Given the description of an element on the screen output the (x, y) to click on. 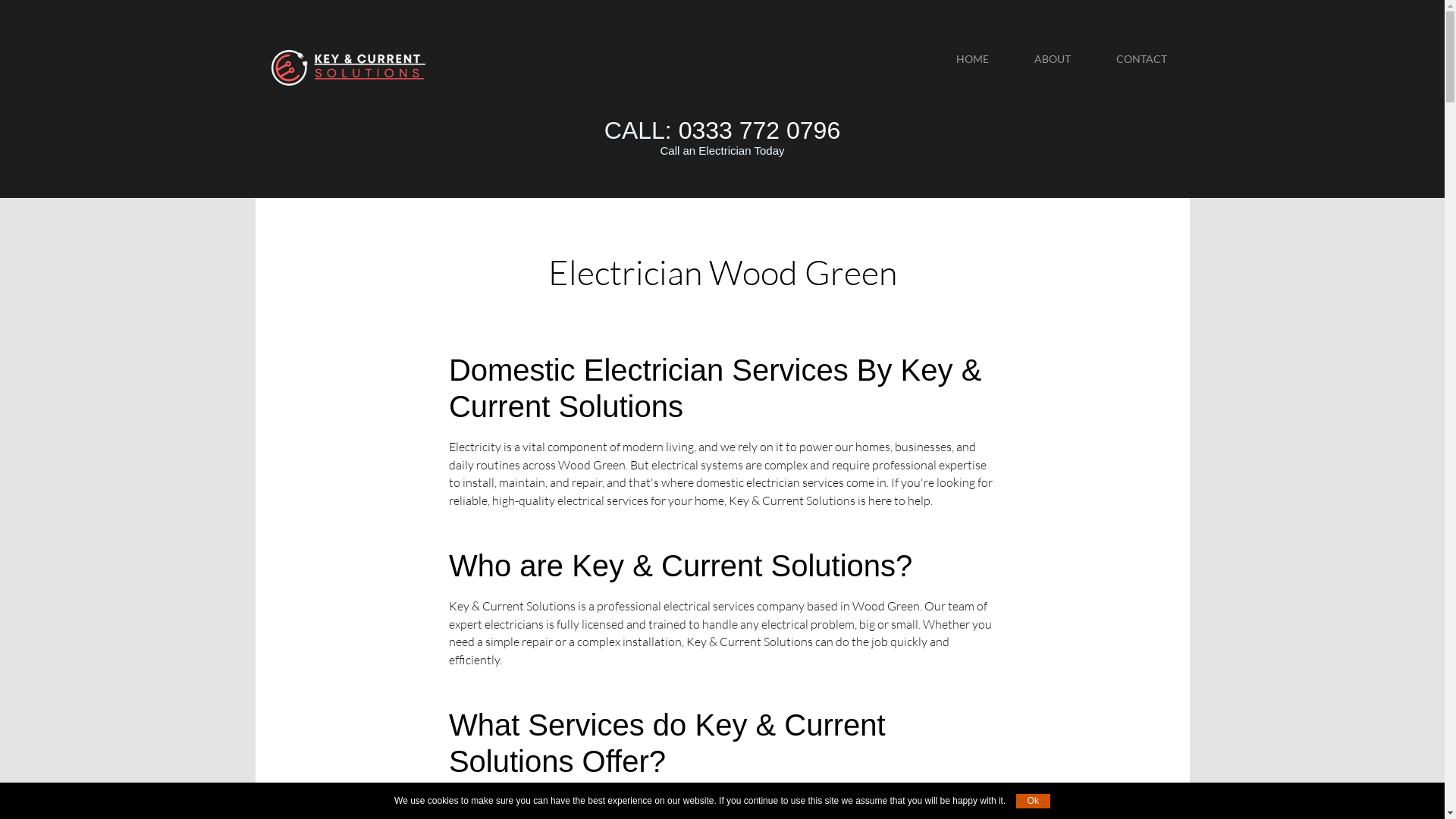
electrical services in Wood Green Element type: text (813, 802)
HOME Element type: text (971, 59)
0333 772 0796 Element type: text (759, 130)
Ok Element type: text (1033, 800)
CONTACT Element type: text (1141, 59)
ABOUT Element type: text (1052, 59)
Wood Green Element type: hover (349, 68)
